Given the description of an element on the screen output the (x, y) to click on. 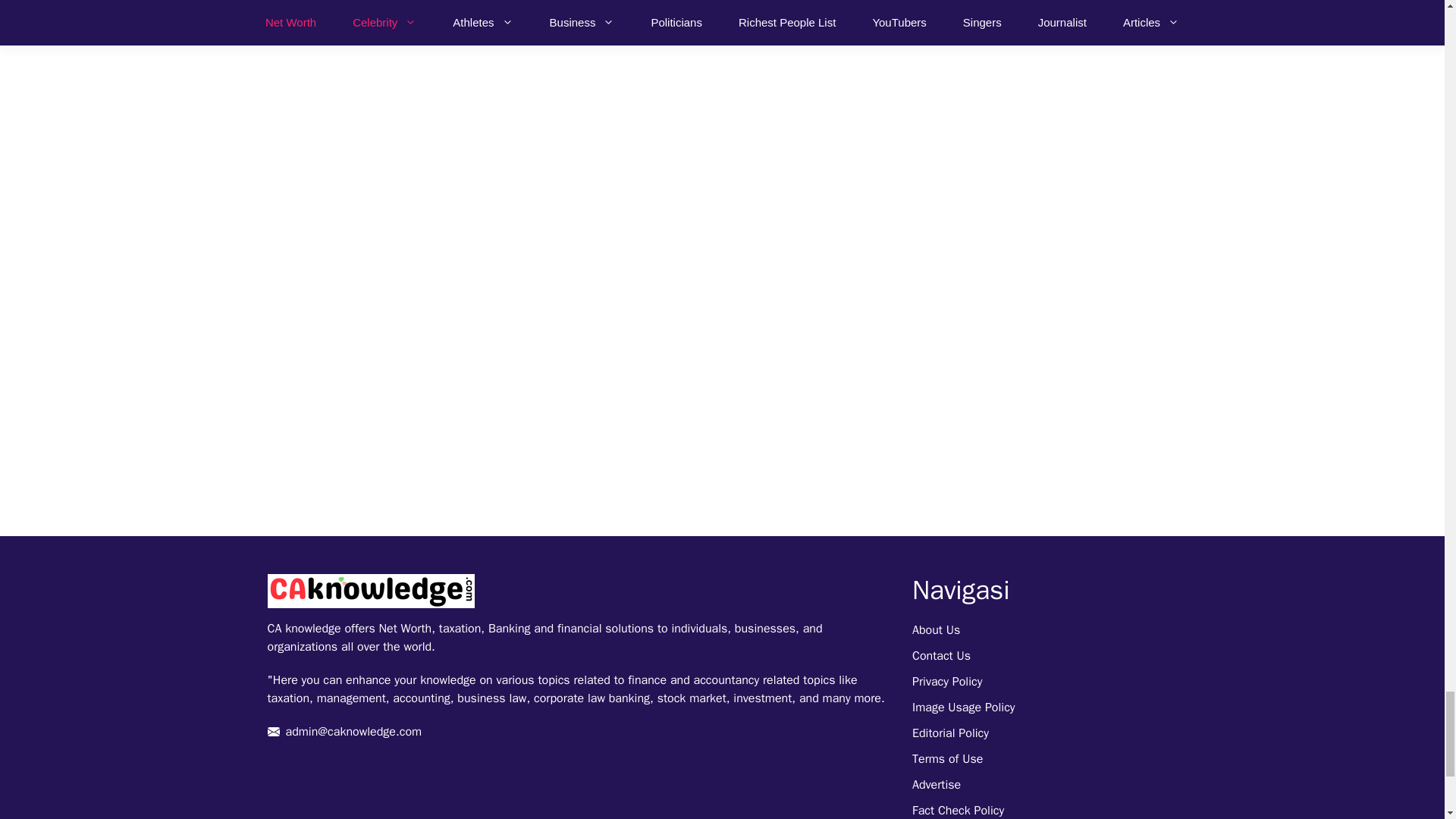
Post Comment (335, 18)
